Given the description of an element on the screen output the (x, y) to click on. 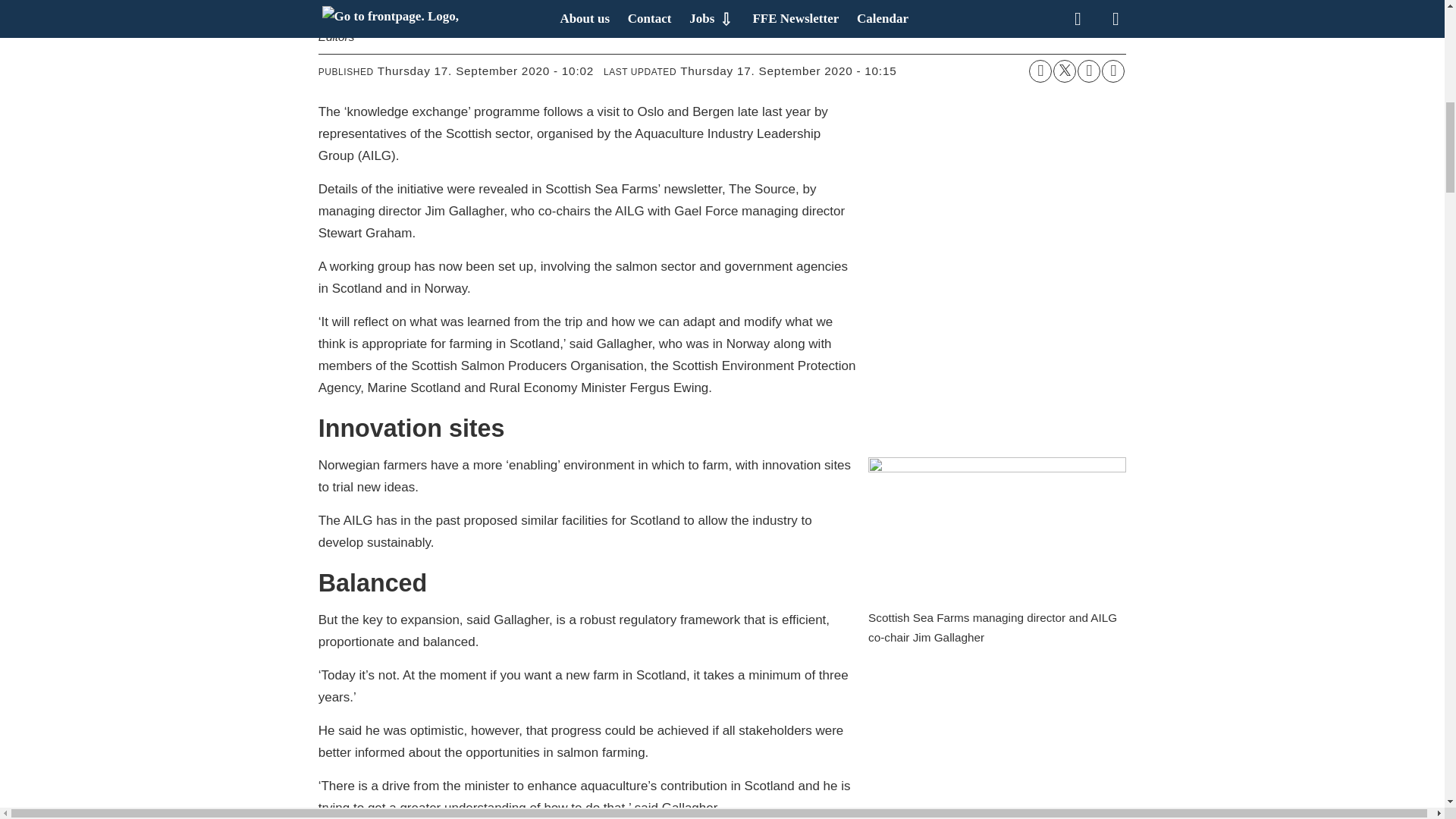
Last updated thursday 17. September 2020 - 10:15 (787, 71)
Published thursday 17. September 2020 - 10:02 (485, 71)
